Given the description of an element on the screen output the (x, y) to click on. 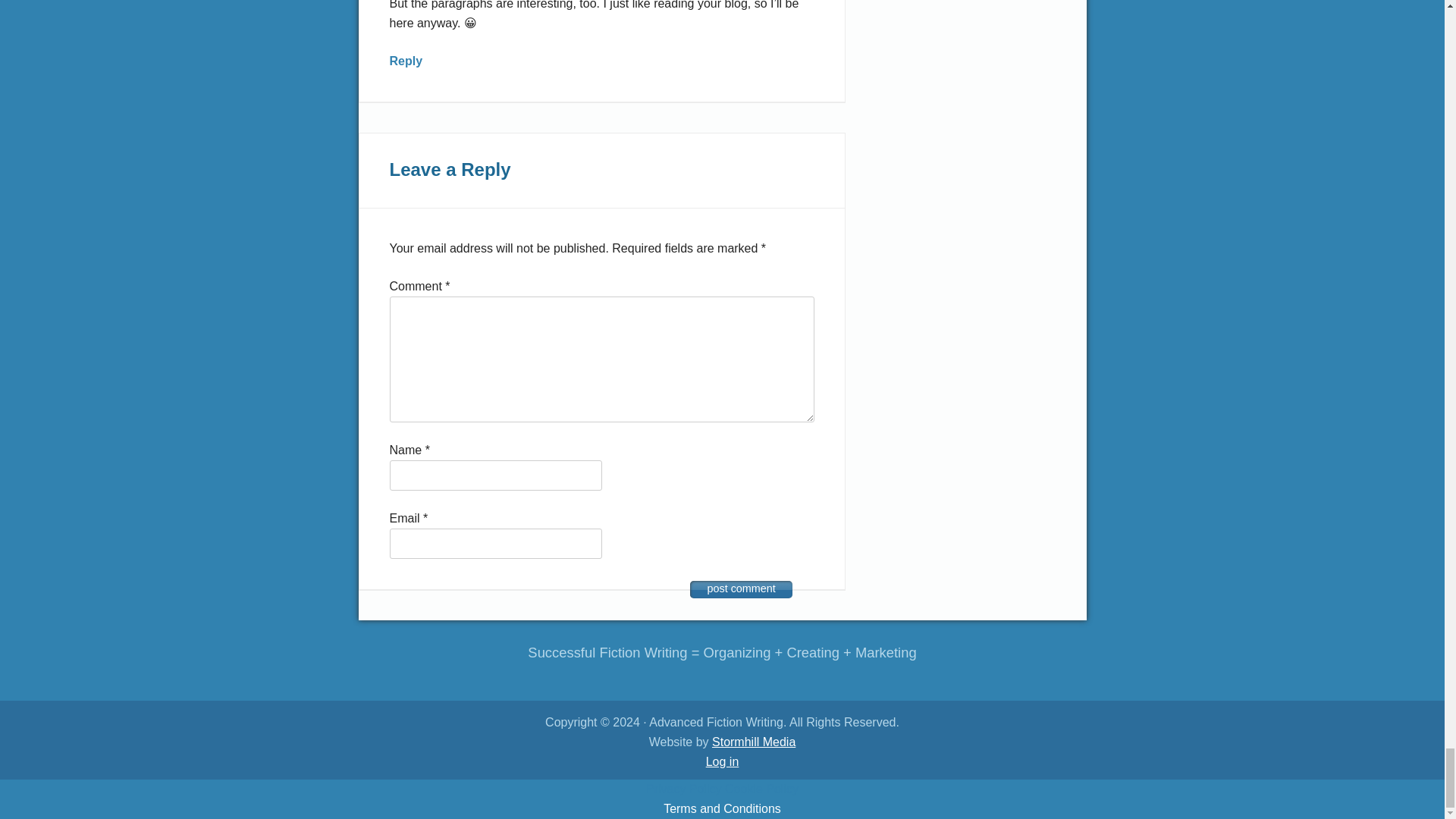
Privacy Policy (684, 788)
Cookie Policy (761, 788)
Post Comment (741, 589)
